Given the description of an element on the screen output the (x, y) to click on. 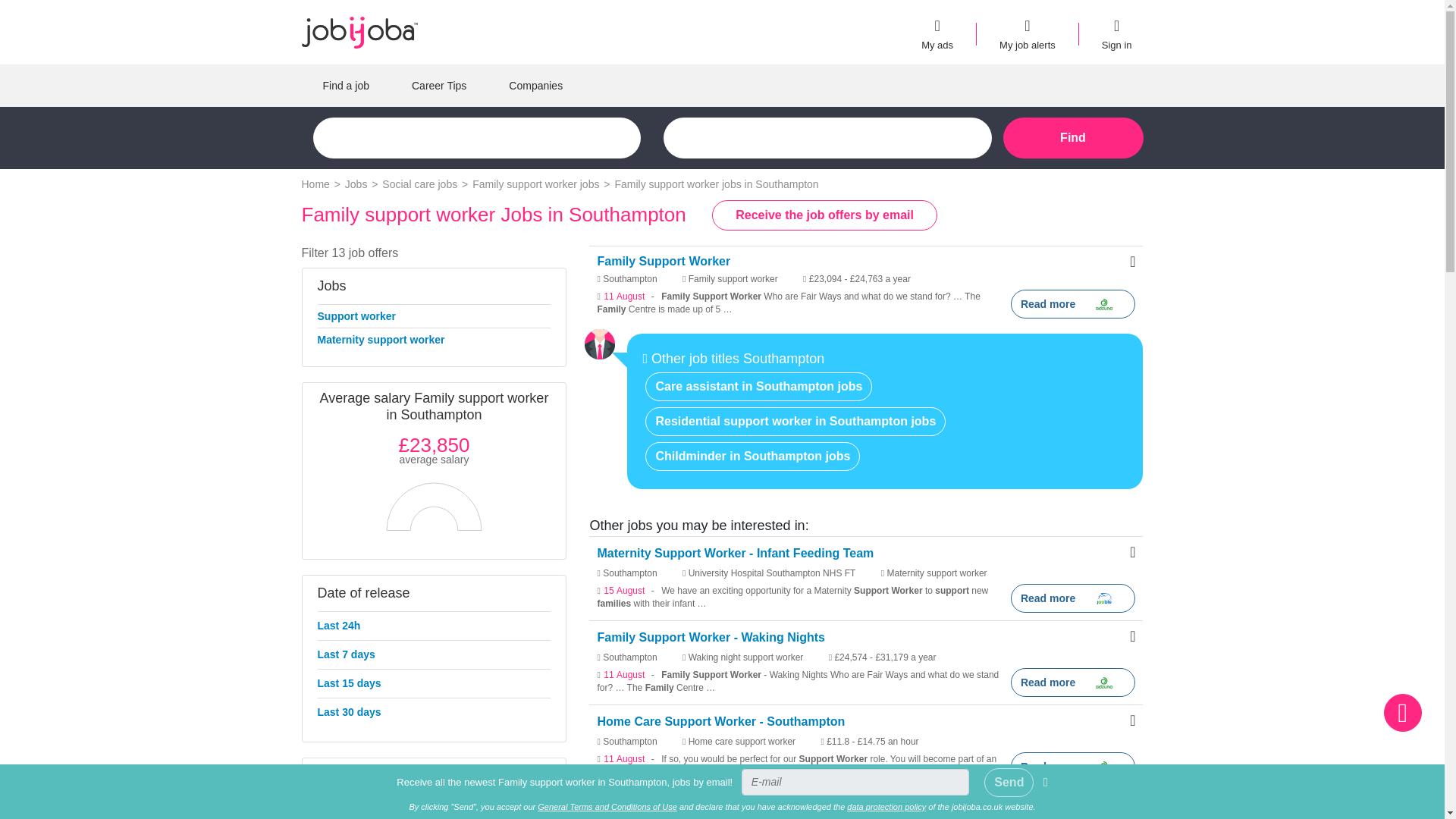
Family support worker jobs (536, 184)
Family support worker jobs in Southampton (716, 184)
Jobs (359, 32)
Home (317, 184)
Family support worker jobs  (536, 184)
Jobs (357, 184)
Support worker in Southampton jobs (355, 315)
Residential support worker in Southampton jobs (794, 421)
Childminder in Southampton jobs (752, 456)
Career Tips (438, 85)
